Given the description of an element on the screen output the (x, y) to click on. 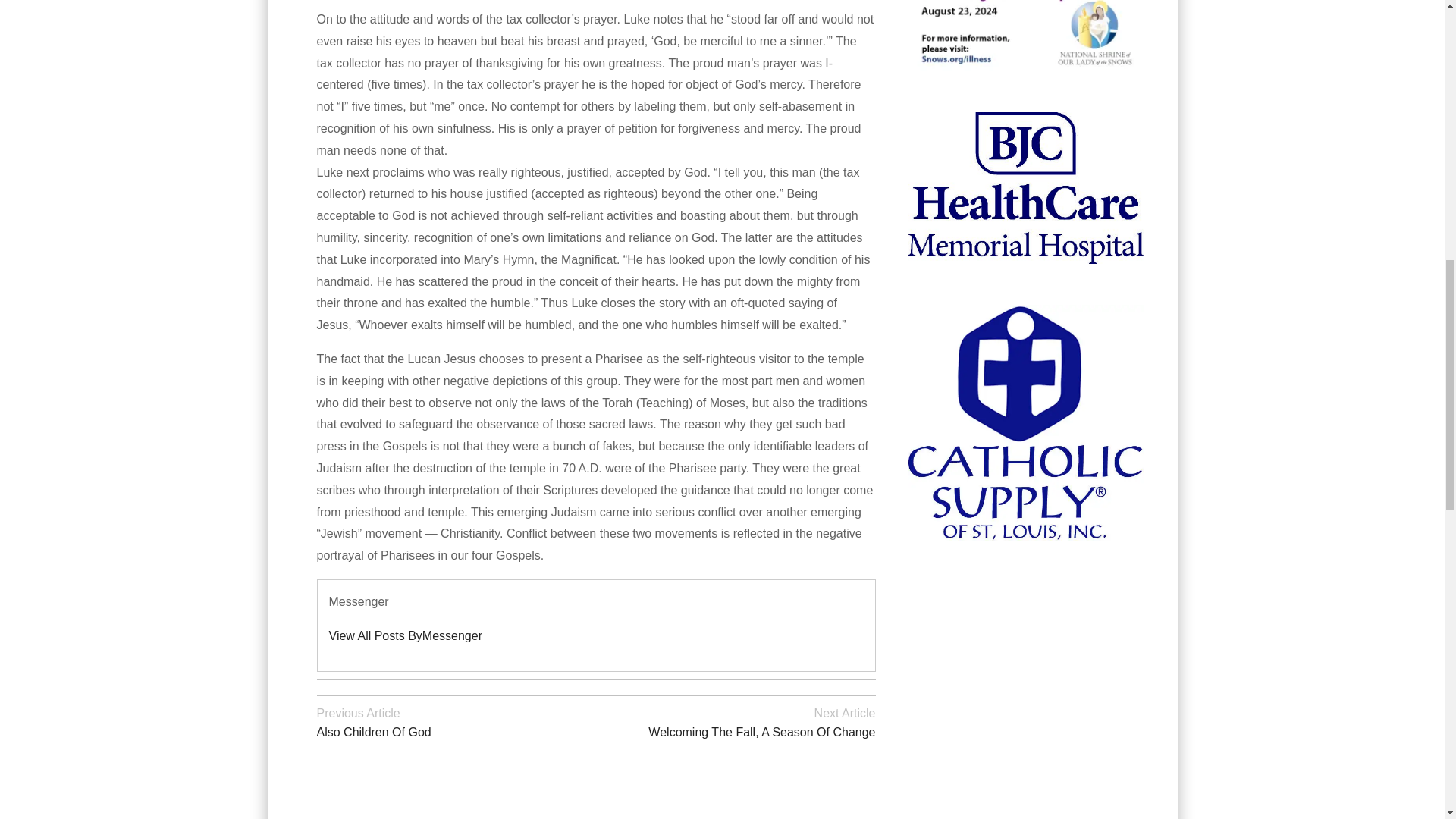
View All Posts ByMessenger (456, 721)
